Given the description of an element on the screen output the (x, y) to click on. 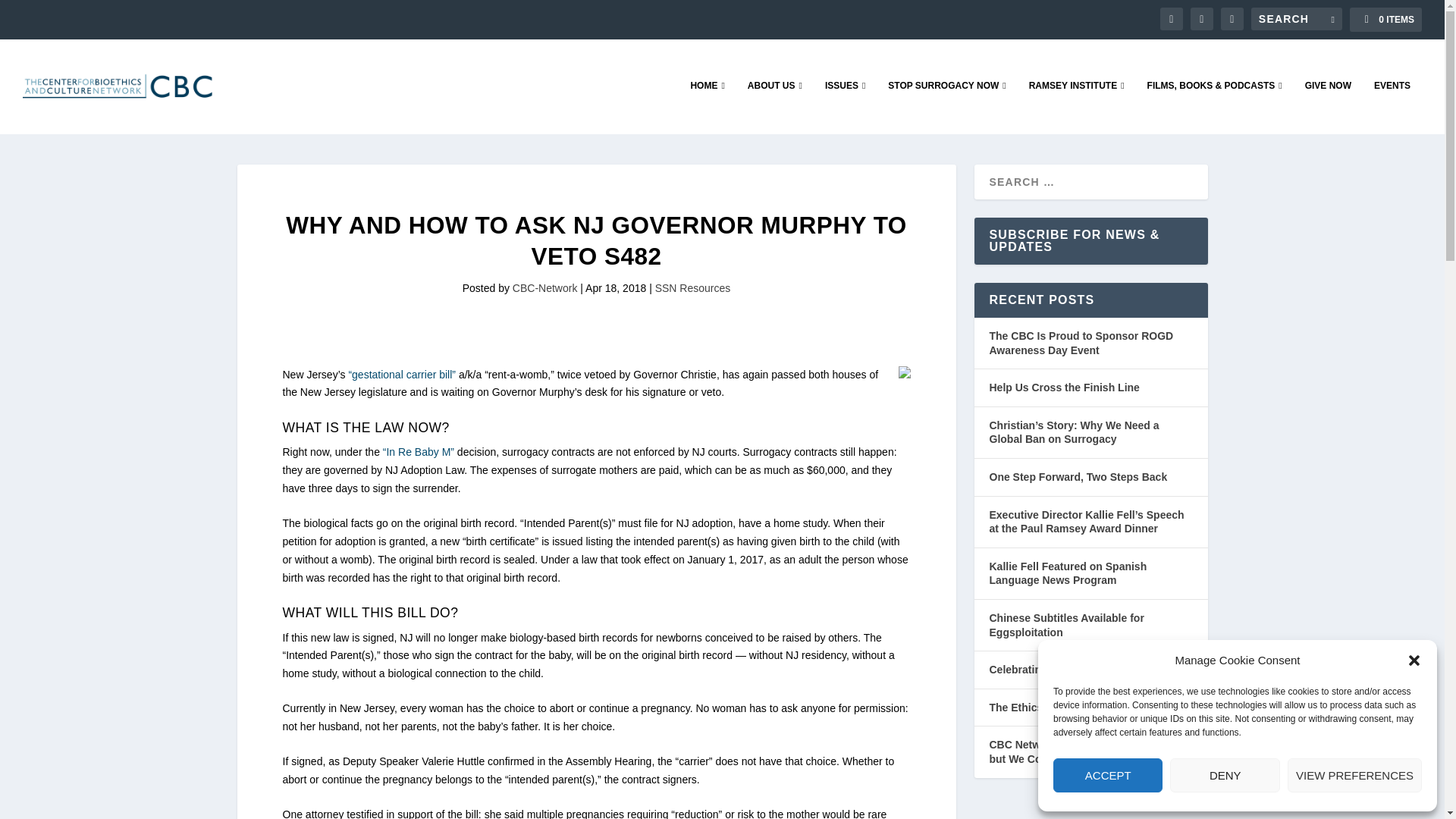
Search for: (1296, 18)
ABOUT US (775, 106)
0 Items in Cart (1385, 19)
ACCEPT (1106, 775)
VIEW PREFERENCES (1354, 775)
ISSUES (844, 106)
Posts by CBC-Network (545, 287)
DENY (1224, 775)
HOME (706, 106)
0 ITEMS (1385, 19)
